Given the description of an element on the screen output the (x, y) to click on. 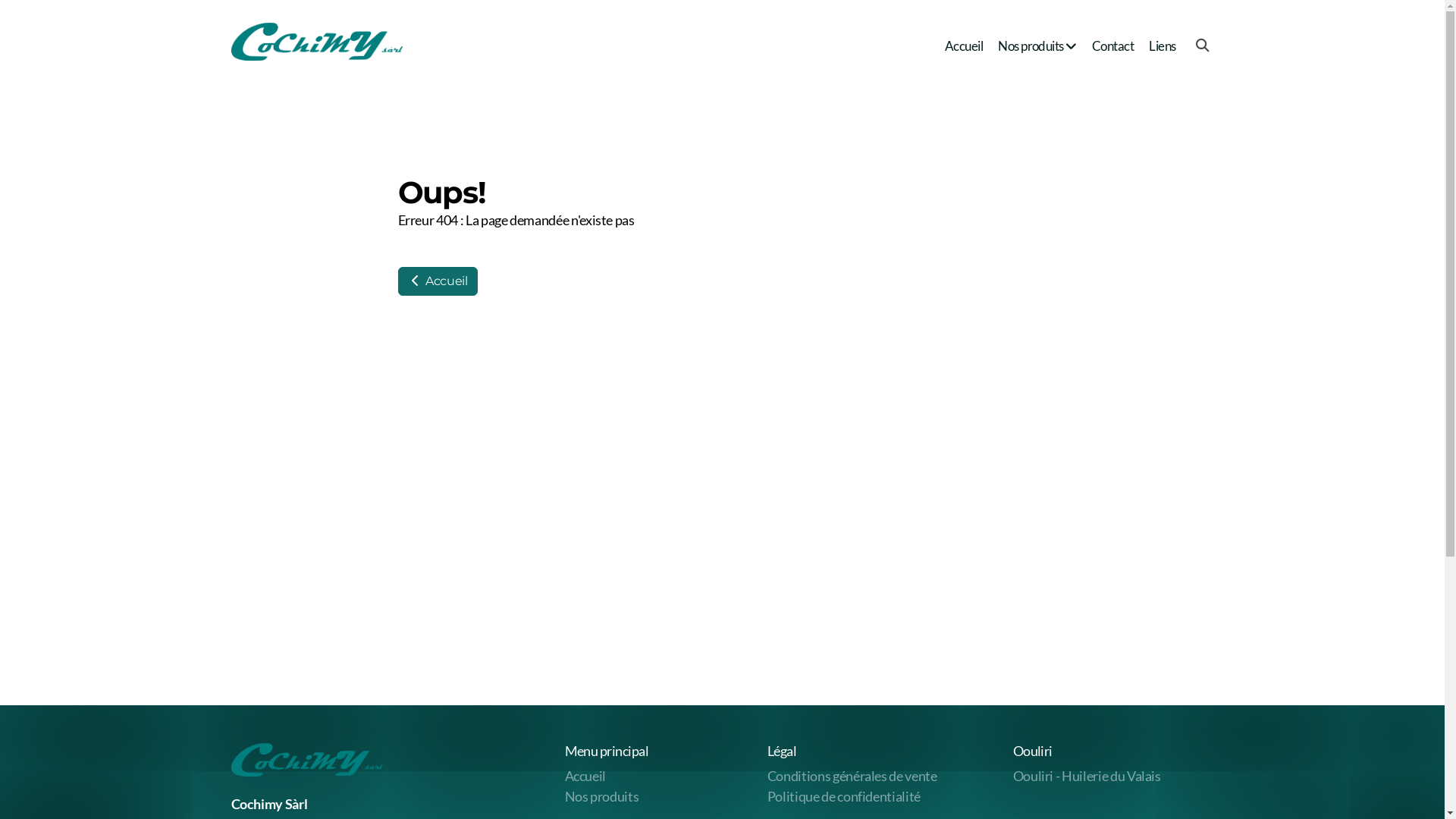
Accueil Element type: text (584, 776)
Nos produits Element type: text (1036, 44)
Accueil Element type: text (436, 280)
Contact Element type: text (1112, 44)
Accueil Element type: text (963, 44)
Nos produits Element type: text (601, 796)
Liens Element type: text (1161, 44)
Oouliri - Huilerie du Valais Element type: text (1087, 776)
